Given the description of an element on the screen output the (x, y) to click on. 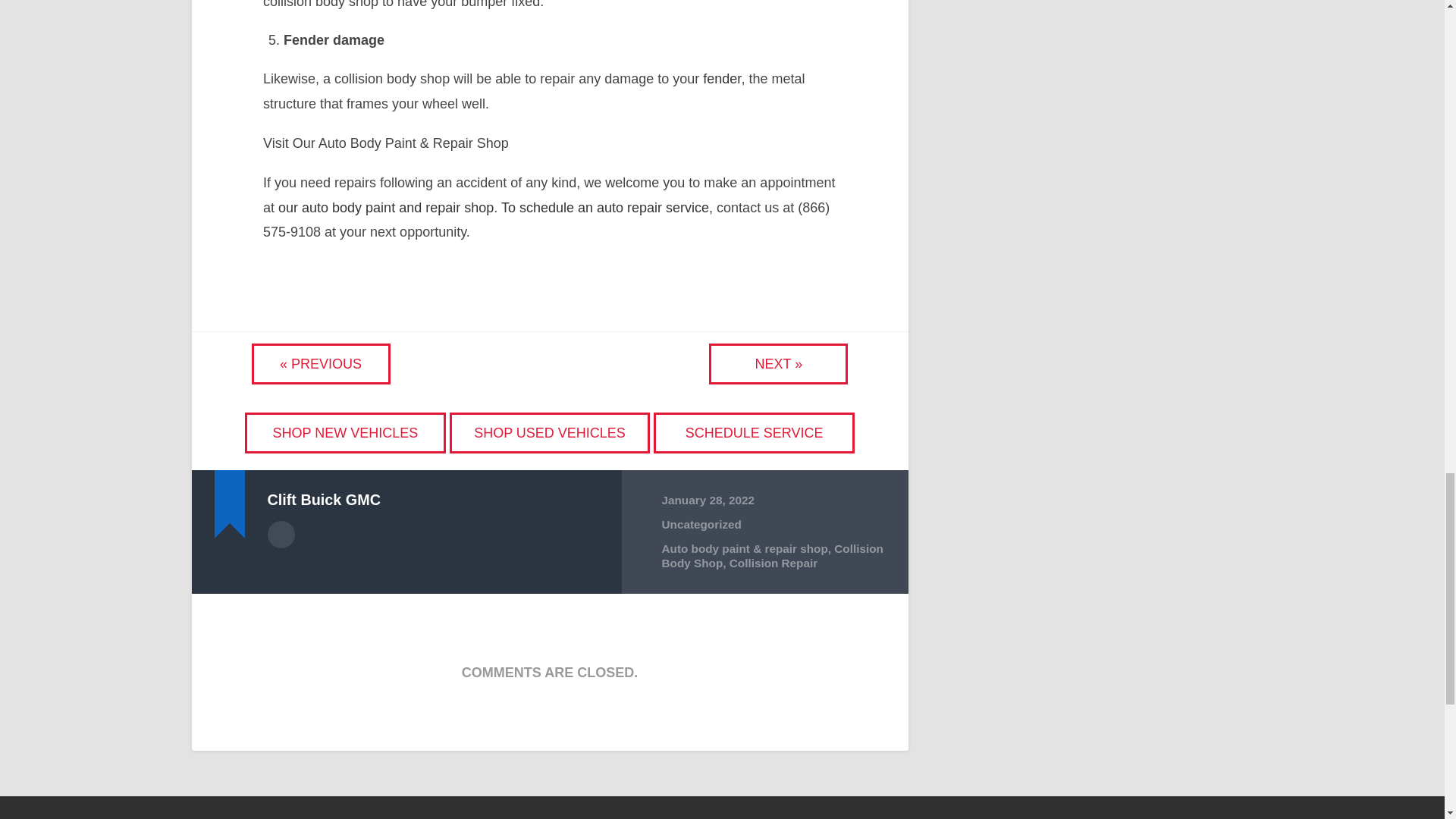
Author archive (280, 533)
Uncategorized (701, 523)
To schedule an auto repair service (603, 207)
Author archive (280, 533)
SHOP USED VEHICLES (549, 432)
SCHEDULE SERVICE (753, 432)
Collision Repair (772, 562)
our auto body paint and repair shop (384, 207)
fender (719, 78)
SHOP NEW VEHICLES (345, 432)
